Given the description of an element on the screen output the (x, y) to click on. 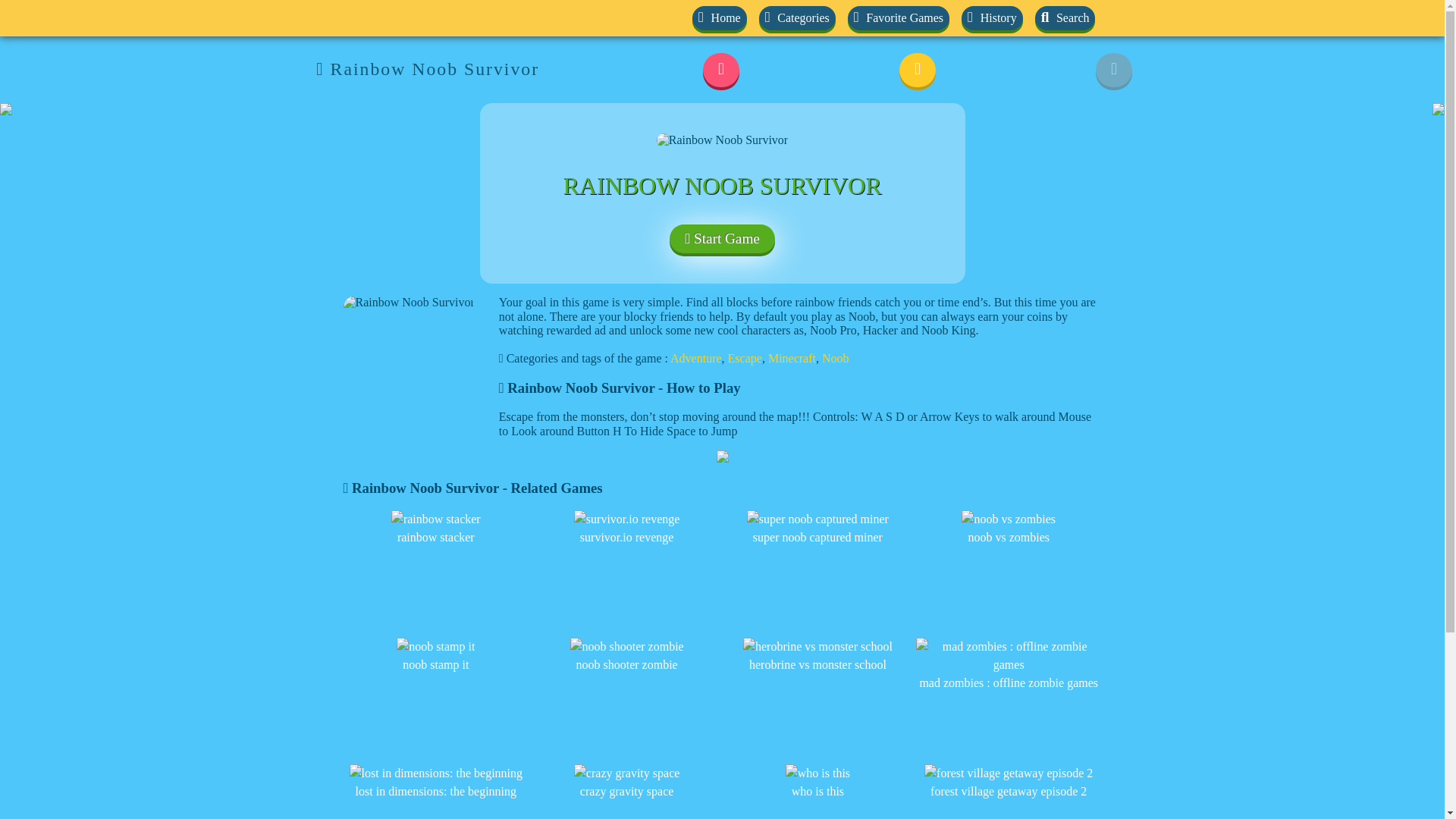
Home (719, 17)
Add to Favorites (721, 69)
Escape (744, 358)
Full Screen (1114, 69)
Adventure (695, 358)
Favorite Games (898, 17)
Minecraft (791, 358)
